Given the description of an element on the screen output the (x, y) to click on. 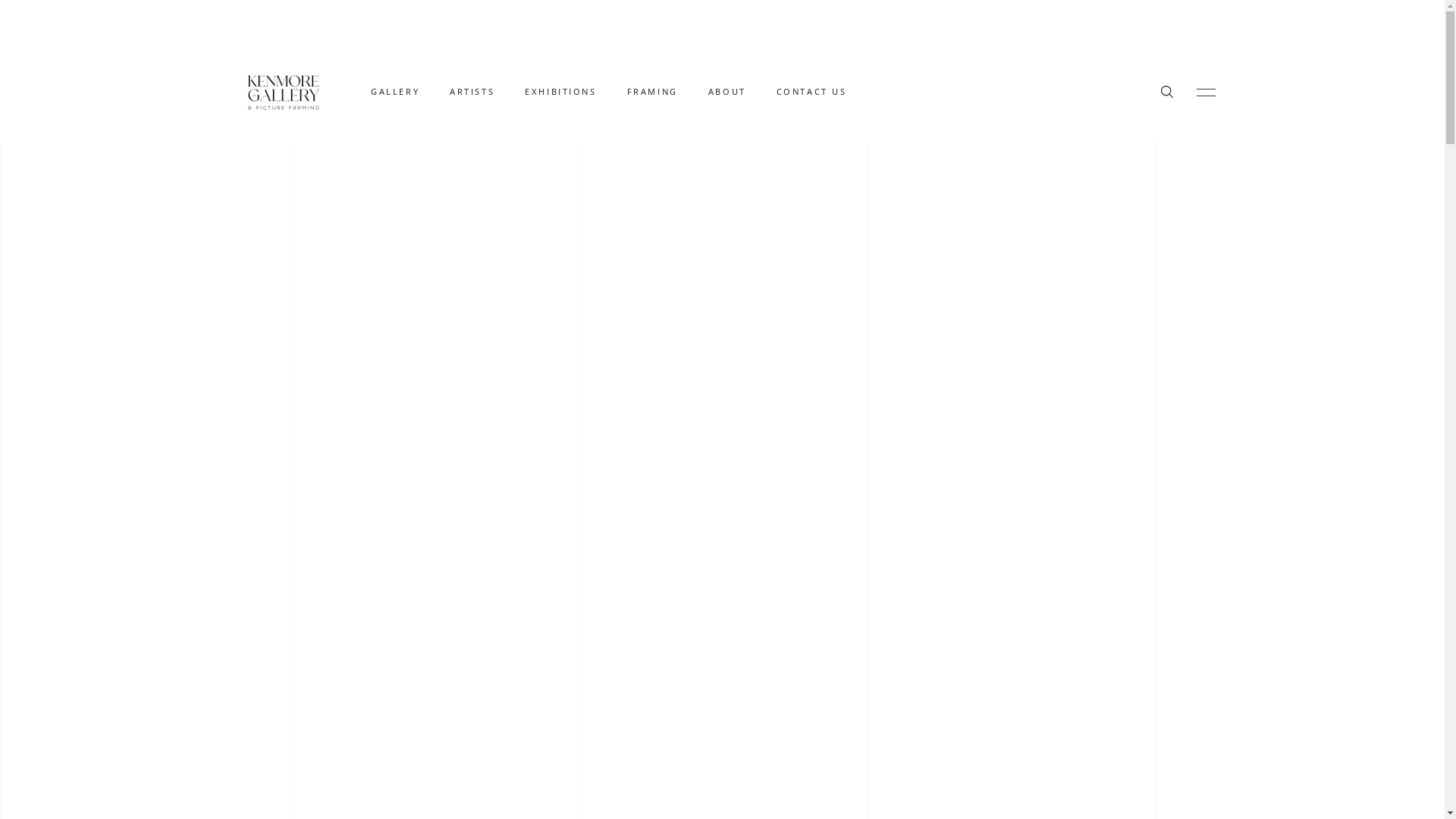
Gallery Element type: text (499, 457)
GALLERY Element type: text (394, 91)
Home Element type: text (496, 429)
Artists Element type: text (497, 485)
About Element type: text (496, 568)
CONTACT US Element type: text (811, 91)
Exhibitions Element type: text (509, 513)
EXHIBITIONS Element type: text (560, 91)
Facebook Element type: text (1008, 465)
ABOUT Element type: text (727, 91)
FRAMING Element type: text (652, 91)
Framing Element type: text (502, 541)
ARTISTS Element type: text (471, 91)
Instagram Element type: text (1011, 493)
Contact Element type: text (500, 596)
